Given the description of an element on the screen output the (x, y) to click on. 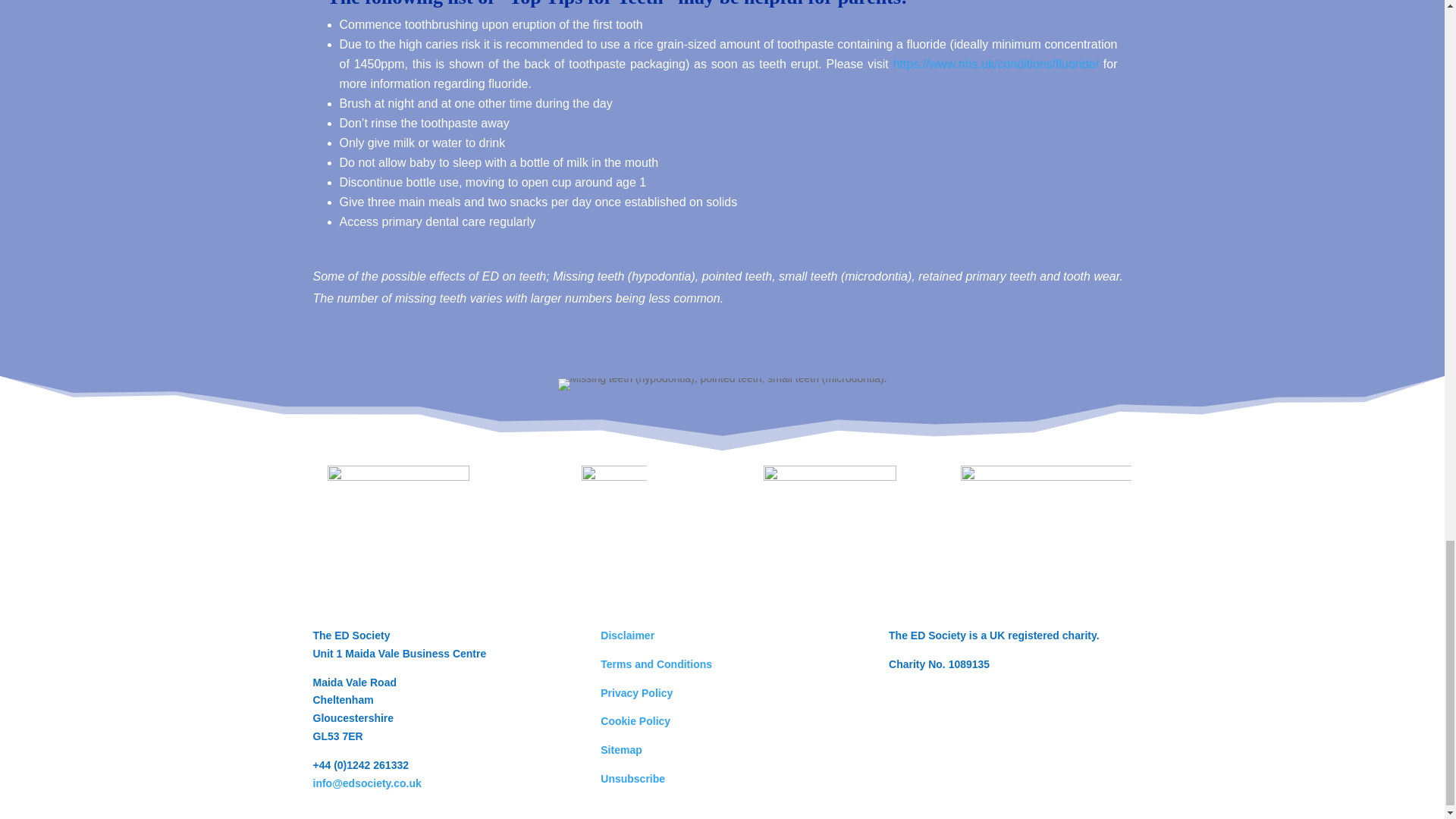
ectodermal-dysplasia-missing-teeth (721, 384)
IP-Logo-2-copy (829, 532)
